Given the description of an element on the screen output the (x, y) to click on. 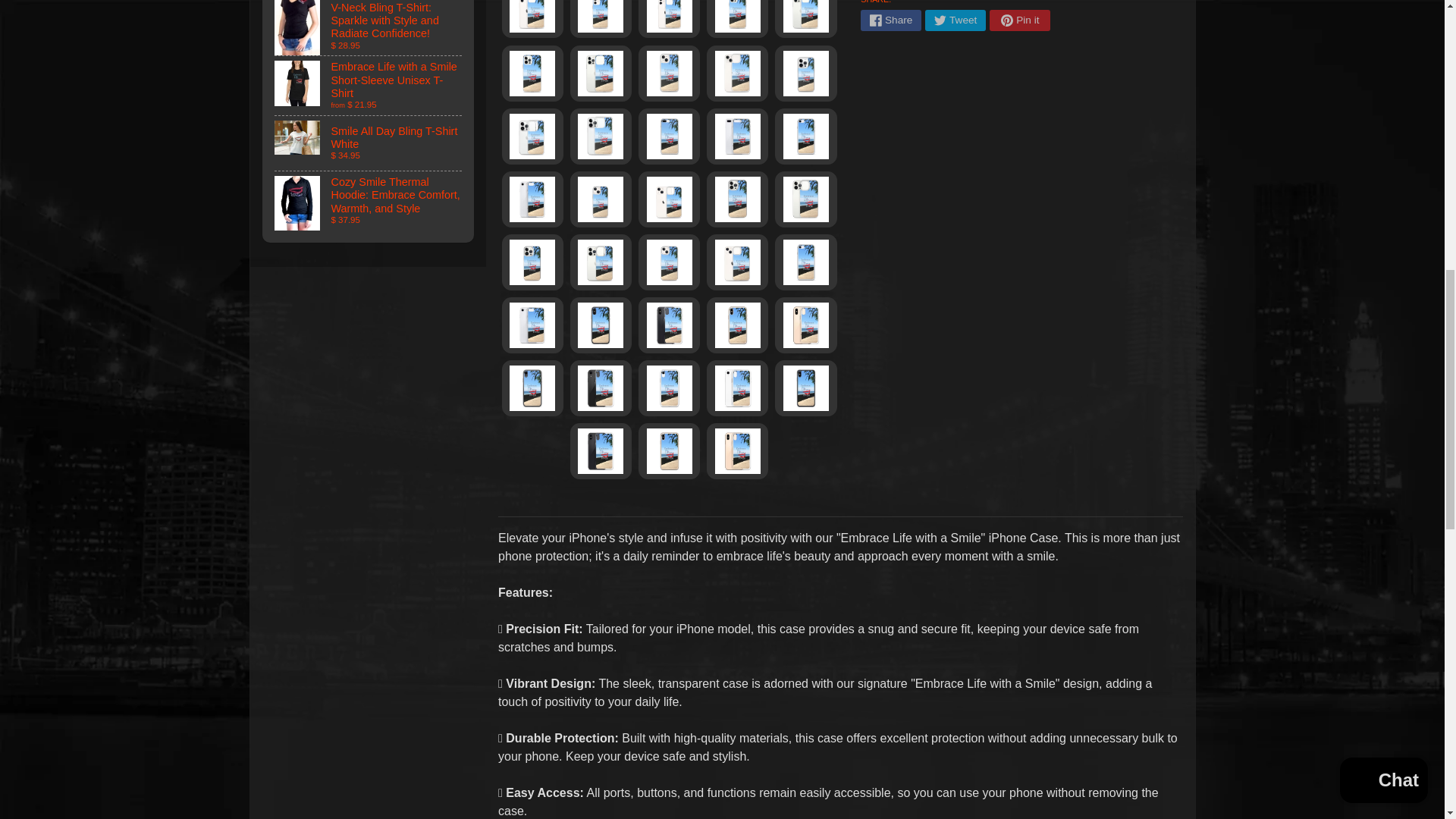
Smile All Day Bling T-Shirt White (369, 143)
Embrace Life with a Smile Short-Sleeve Unisex T-Shirt (369, 85)
